Given the description of an element on the screen output the (x, y) to click on. 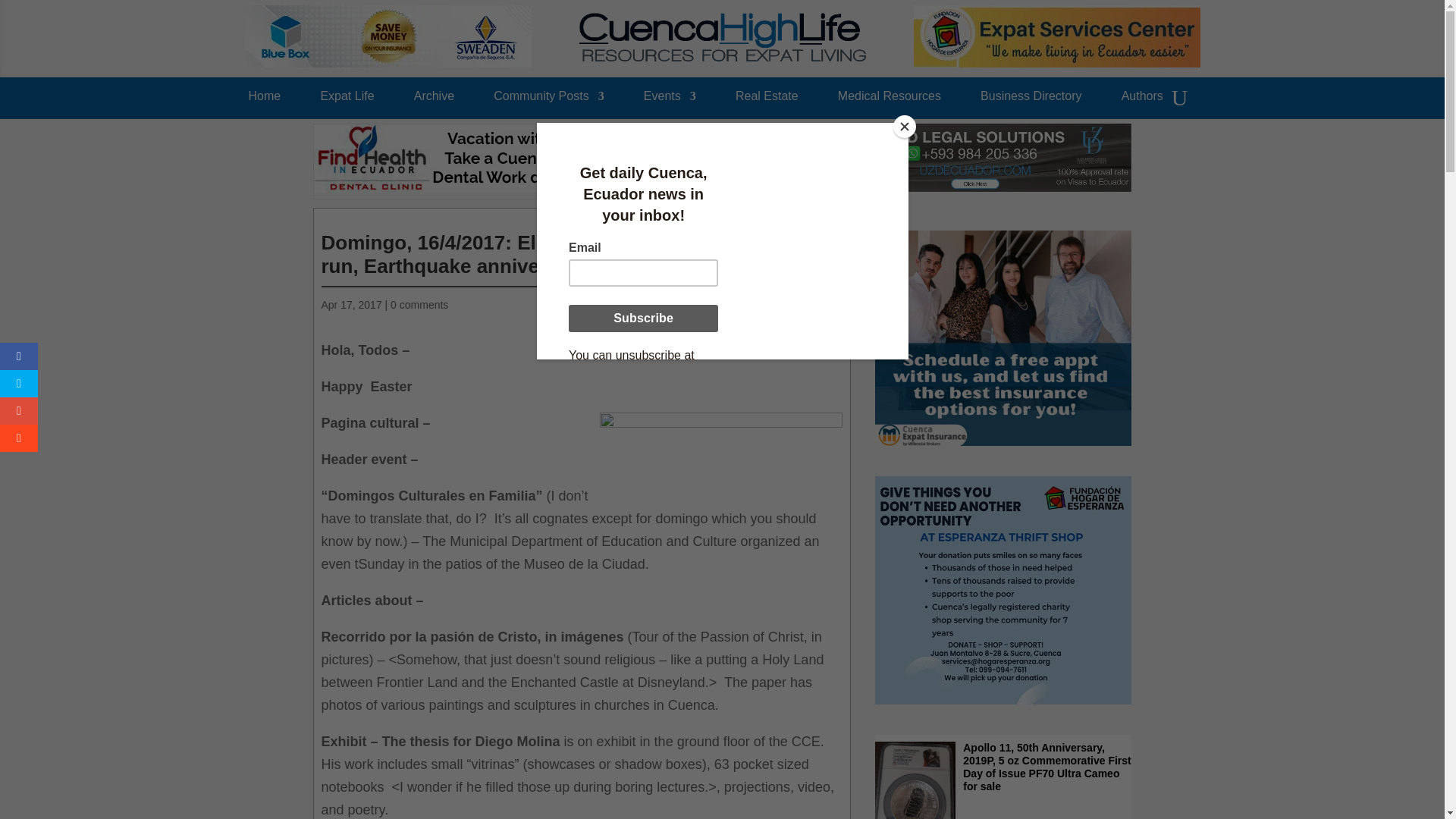
Authors (1142, 100)
0 comments (419, 304)
Events (669, 100)
Home (264, 100)
Expat Life (347, 100)
Medical Resources (889, 100)
Business Directory (1030, 100)
Real Estate (766, 100)
Community Posts (548, 100)
icon-cuencahighlife (824, 219)
logo-chl-2 (722, 37)
Archive (433, 100)
